Given the description of an element on the screen output the (x, y) to click on. 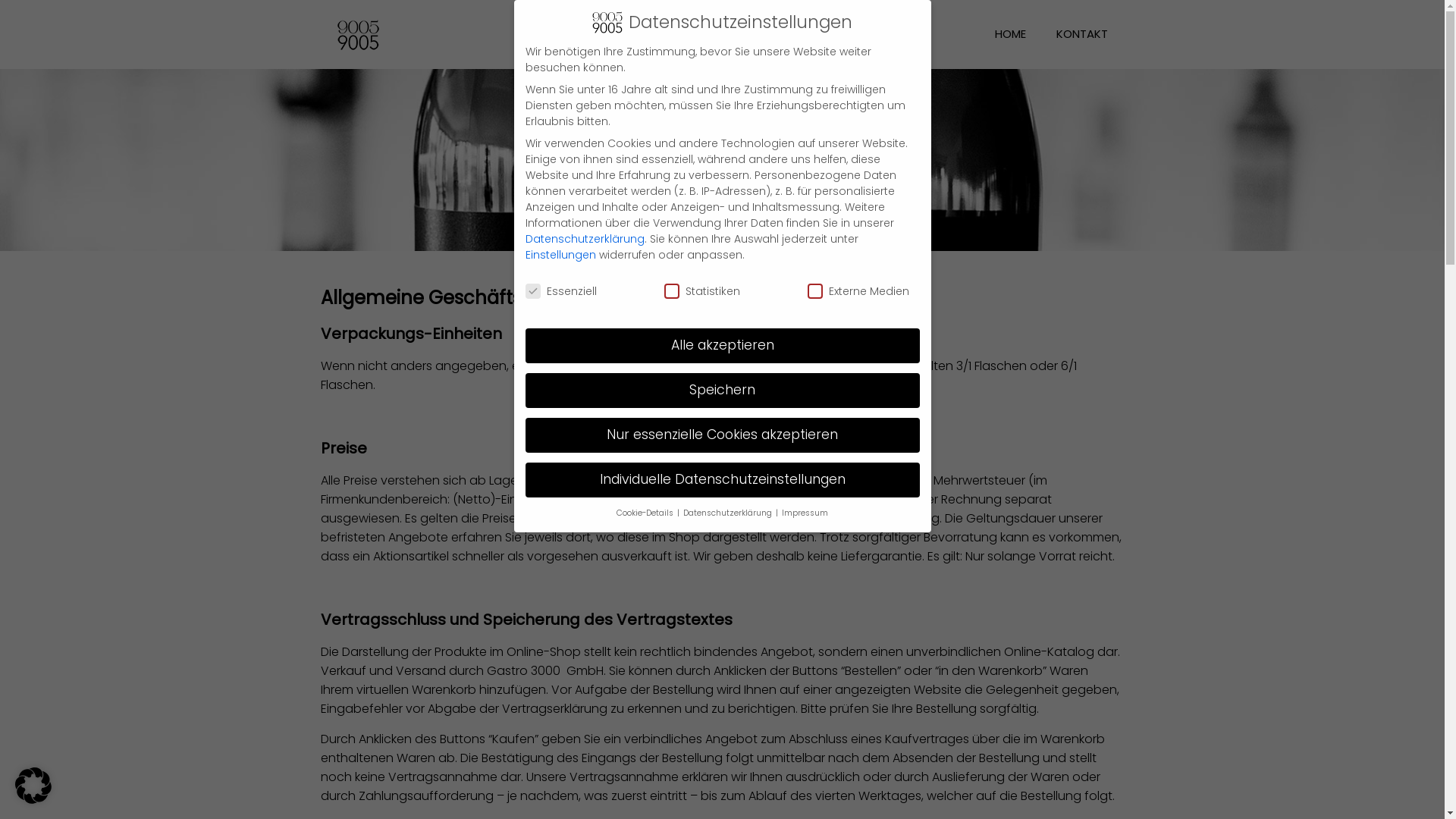
Einstellungen Element type: text (559, 254)
Nur essenzielle Cookies akzeptieren Element type: text (721, 434)
Cookie-Details Element type: text (645, 512)
Impressum Element type: text (804, 512)
Sekt Element type: text (828, 365)
9005.bar Element type: hover (357, 34)
Individuelle Datenschutzeinstellungen Element type: text (721, 479)
HOME Element type: text (1010, 34)
Alle akzeptieren Element type: text (721, 345)
KONTAKT Element type: text (1081, 34)
Speichern Element type: text (721, 390)
Wein Element type: text (720, 365)
